Given the description of an element on the screen output the (x, y) to click on. 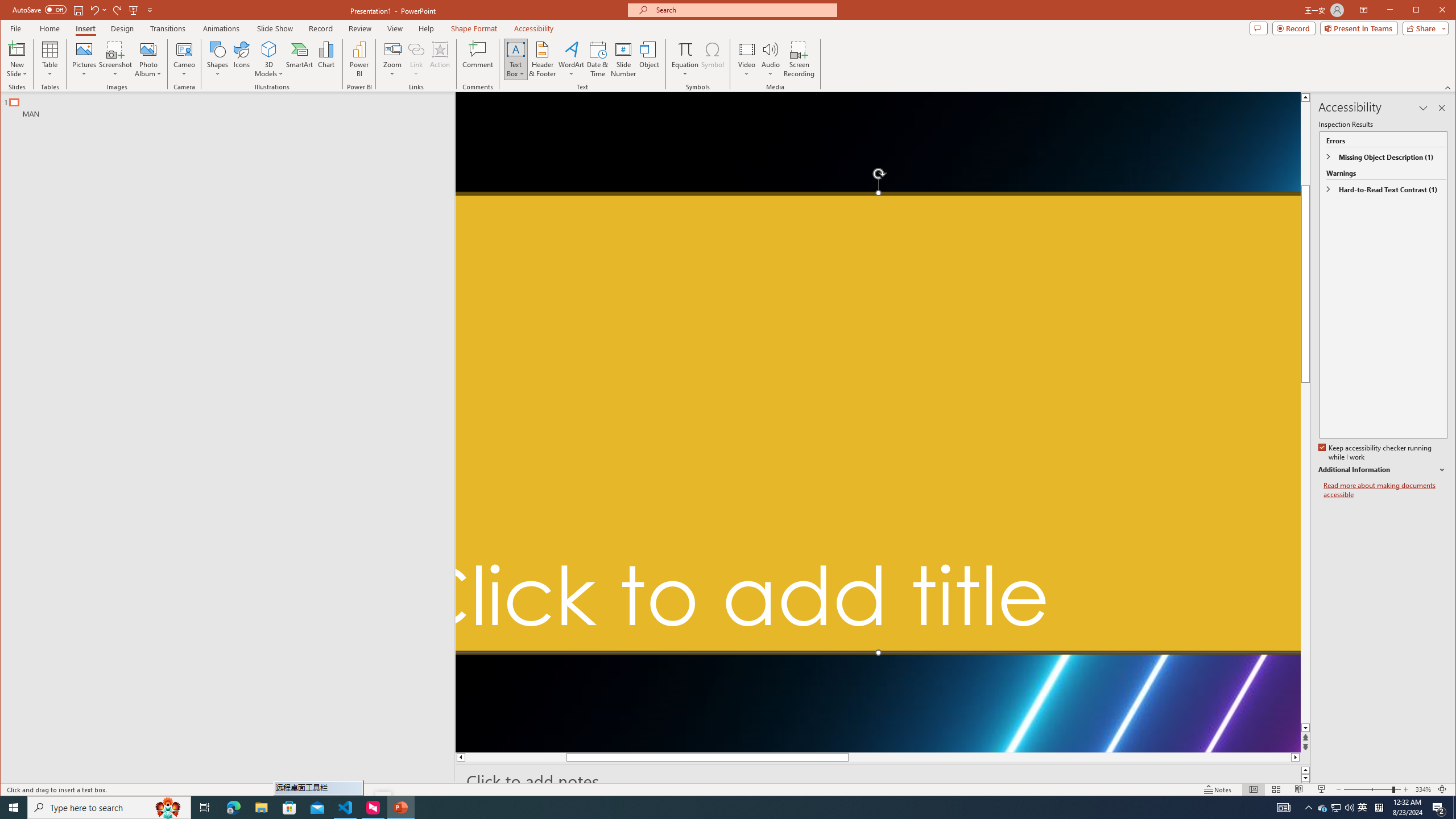
Symbol... (712, 59)
Photo Album... (148, 59)
